Given the description of an element on the screen output the (x, y) to click on. 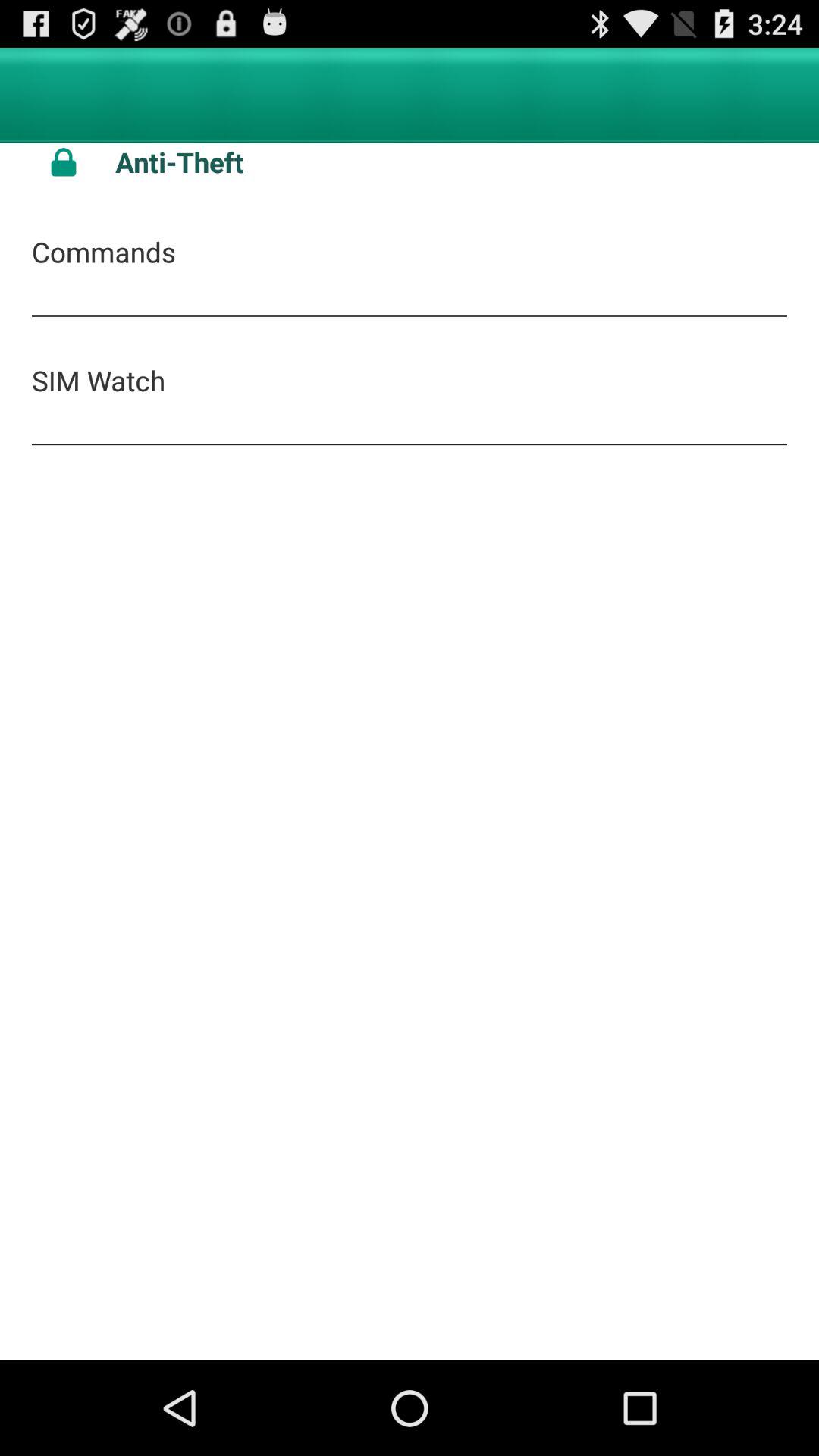
scroll until the commands item (103, 251)
